Given the description of an element on the screen output the (x, y) to click on. 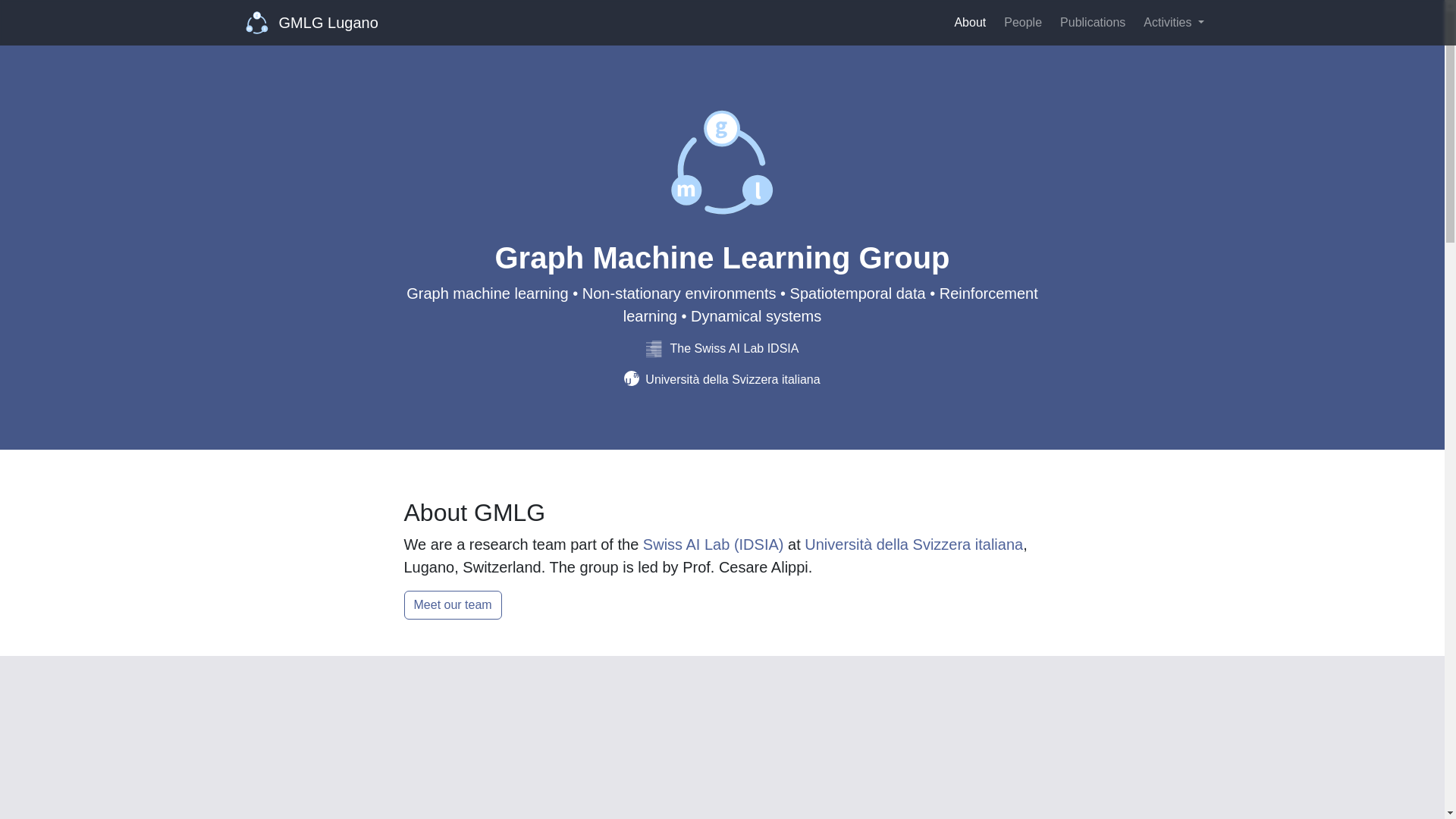
GMLG Lugano (312, 22)
Meet our team (451, 604)
People (1022, 22)
Activities (1173, 22)
The Swiss AI Lab IDSIA (722, 348)
About (969, 22)
Publications (1092, 22)
